Given the description of an element on the screen output the (x, y) to click on. 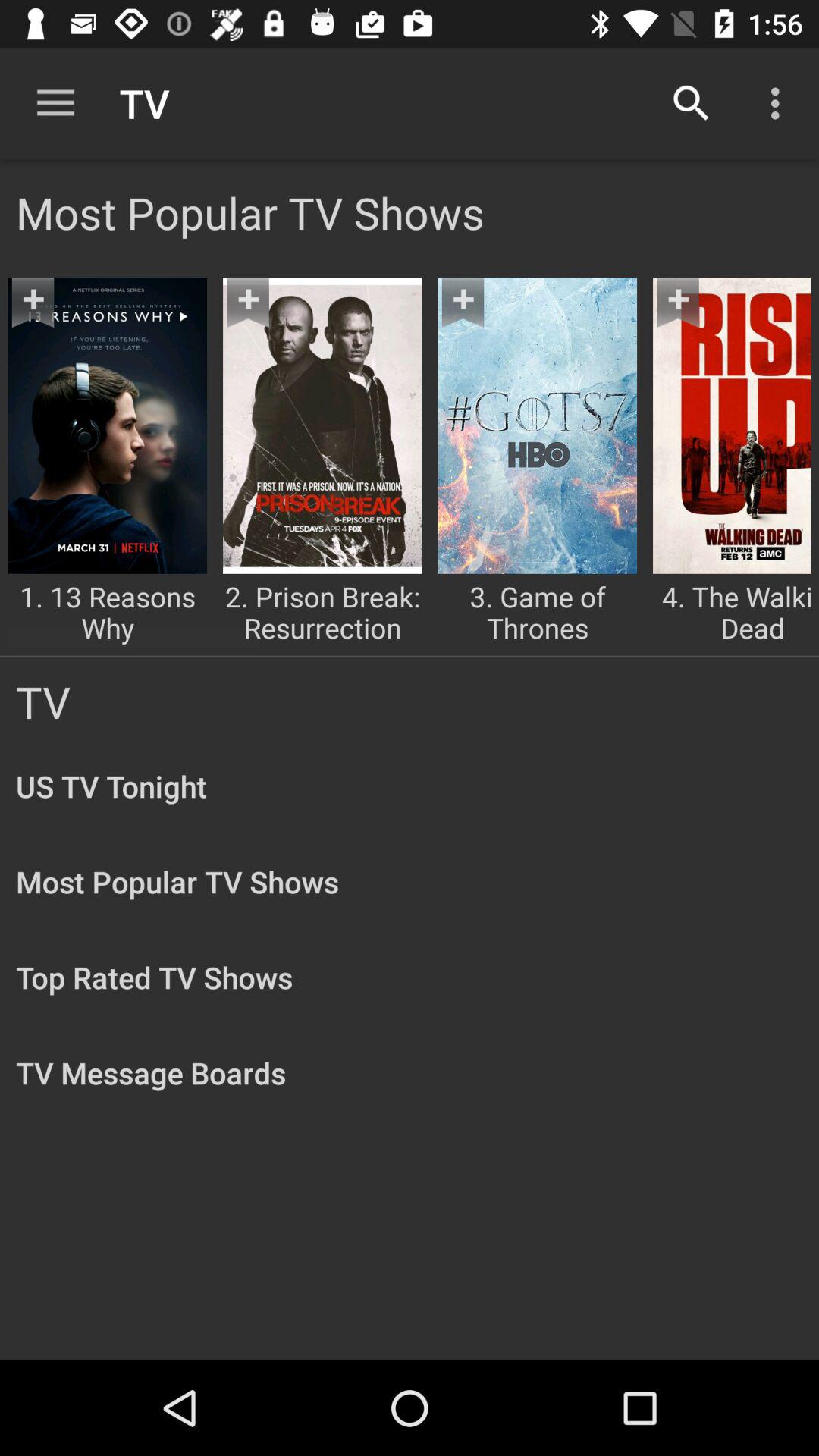
turn off the item to the right of tv item (691, 103)
